Given the description of an element on the screen output the (x, y) to click on. 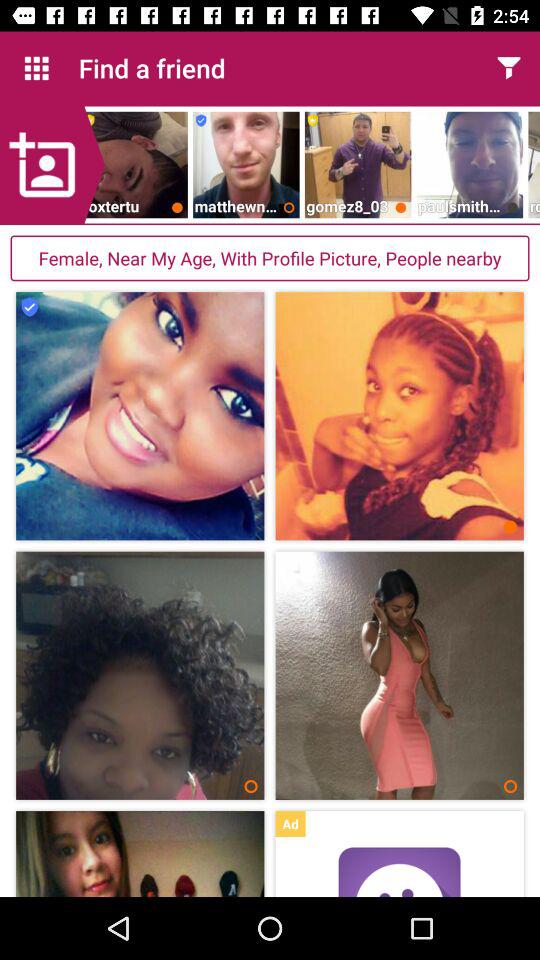
turn on female near my (269, 258)
